Given the description of an element on the screen output the (x, y) to click on. 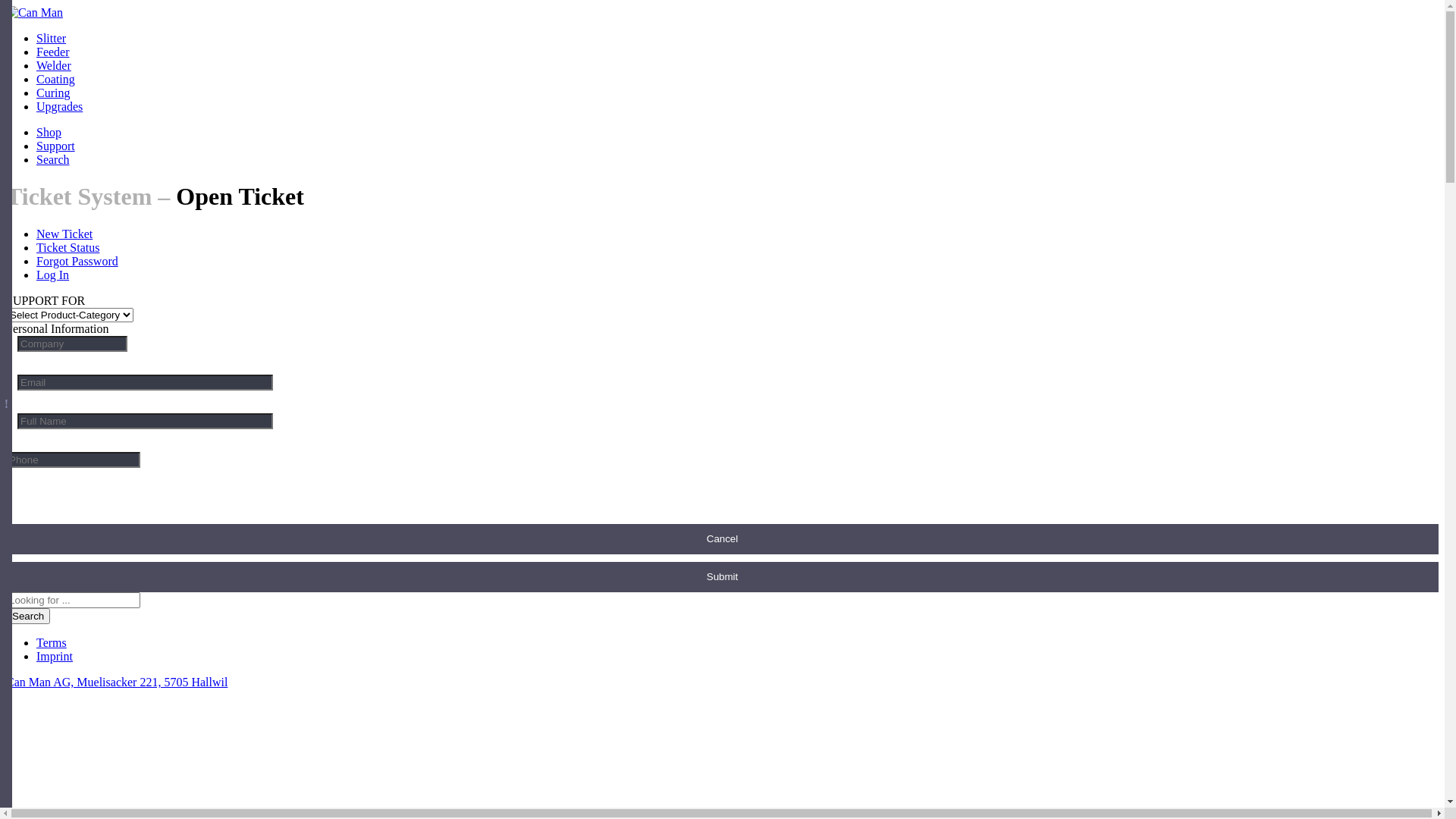
Feeder Element type: text (52, 51)
New Ticket Element type: text (64, 233)
Search Element type: text (52, 159)
Shop Element type: text (48, 131)
Terms Element type: text (51, 642)
Cancel Element type: text (722, 539)
Curing Element type: text (52, 92)
Ticket Status Element type: text (67, 247)
Imprint Element type: text (54, 655)
Forgot Password Element type: text (77, 260)
Search Element type: text (28, 616)
Welder Element type: text (53, 65)
Support Element type: text (55, 145)
Can Man AG, Muelisacker 221, 5705 Hallwil Element type: text (116, 681)
Slitter Element type: text (50, 37)
Log In Element type: text (52, 274)
Upgrades Element type: text (59, 106)
Coating Element type: text (55, 78)
Submit Element type: text (722, 576)
